Given the description of an element on the screen output the (x, y) to click on. 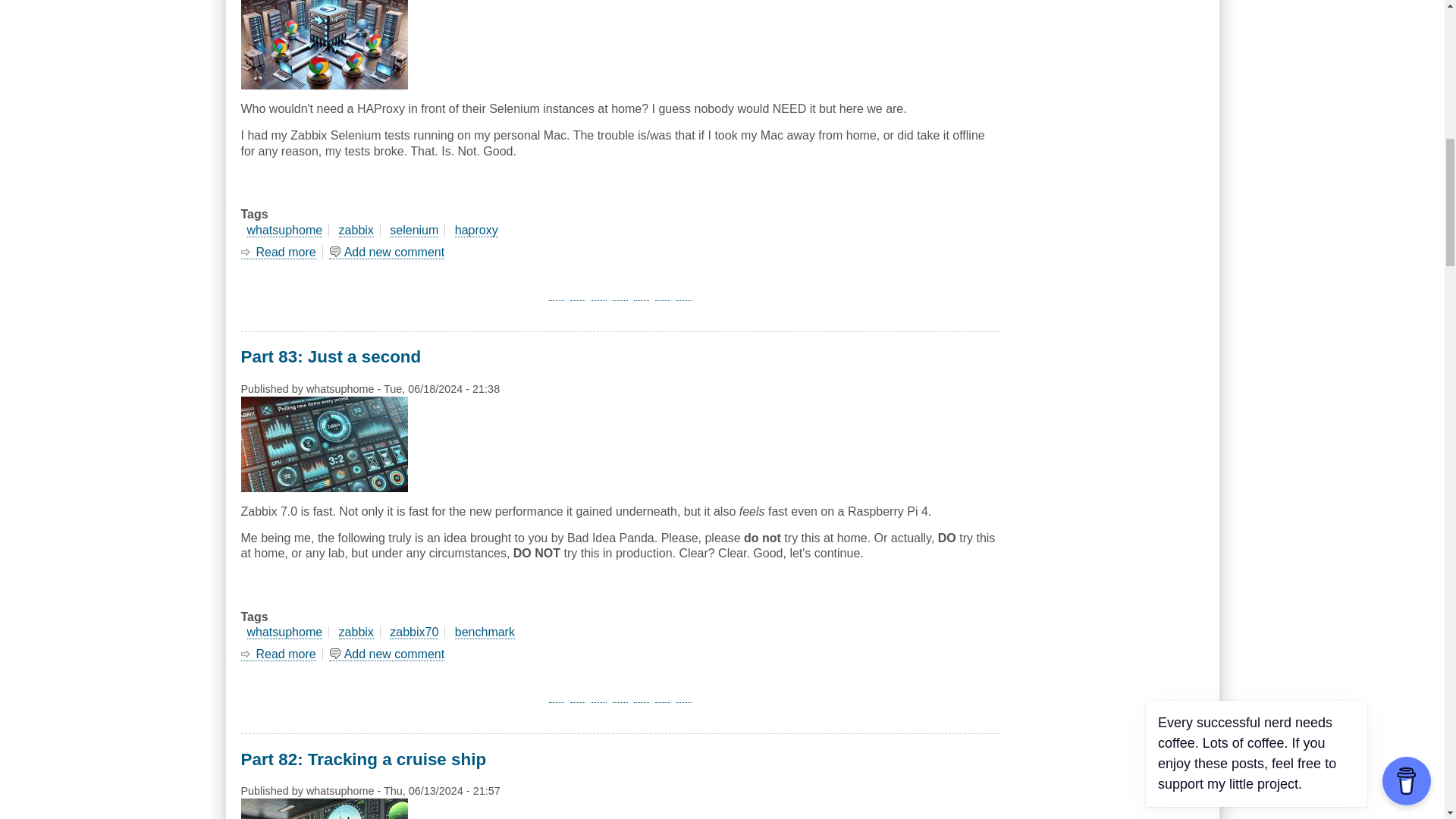
whatsuphome (285, 230)
selenium (414, 230)
Share to X (577, 293)
haproxy (475, 230)
Share to Facebook (556, 293)
Share your thoughts and opinions. (387, 252)
zabbix (356, 230)
Add new comment (387, 252)
